Given the description of an element on the screen output the (x, y) to click on. 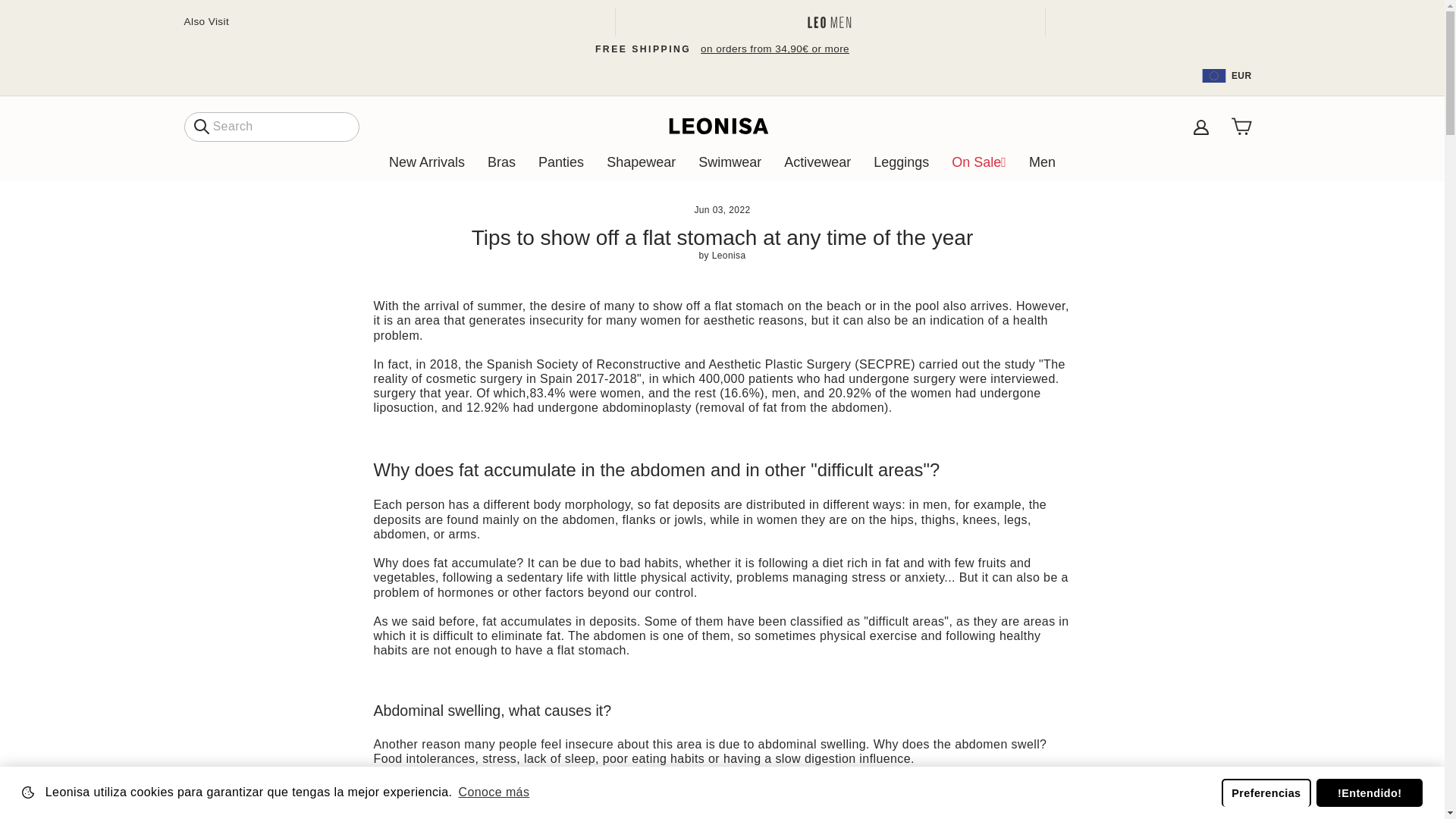
!Entendido! (1369, 792)
Preferencias (1266, 792)
